Given the description of an element on the screen output the (x, y) to click on. 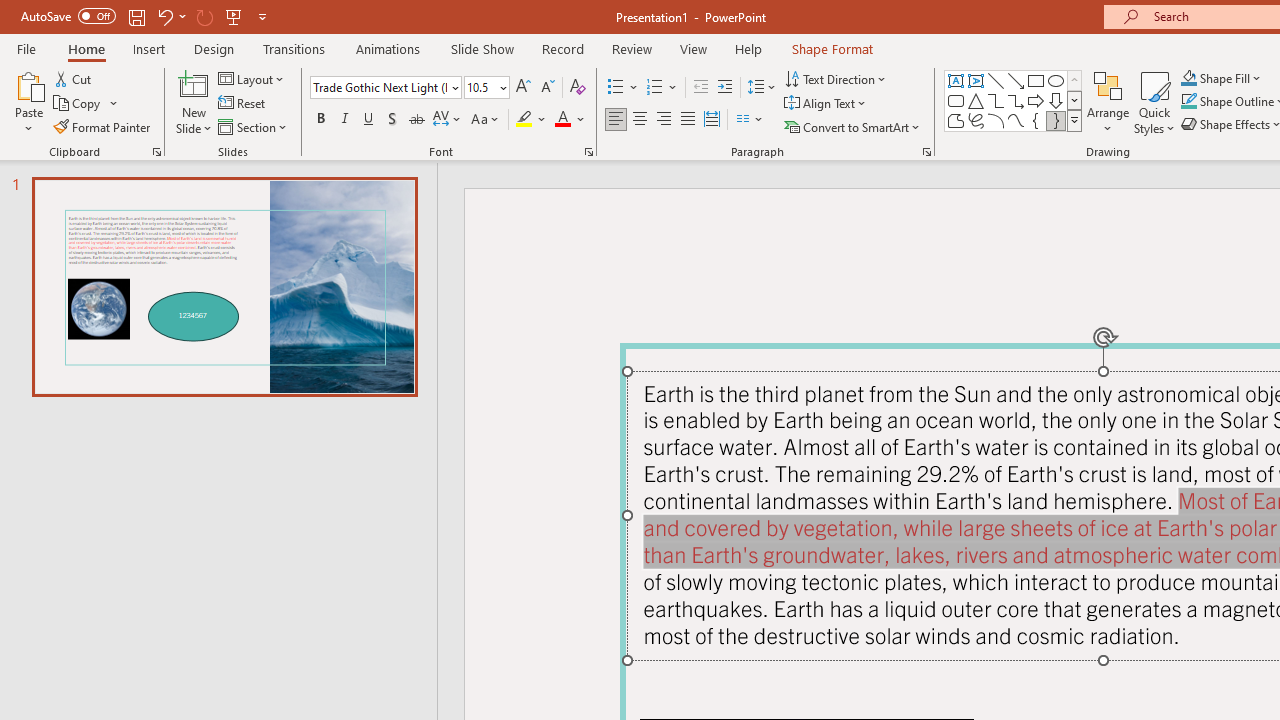
Rectangle: Rounded Corners (955, 100)
Decrease Font Size (547, 87)
Curve (1016, 120)
Reset (243, 103)
Center (639, 119)
Office Clipboard... (156, 151)
Freeform: Shape (955, 120)
Align Text (826, 103)
Right Brace (1055, 120)
Decrease Indent (700, 87)
